Given the description of an element on the screen output the (x, y) to click on. 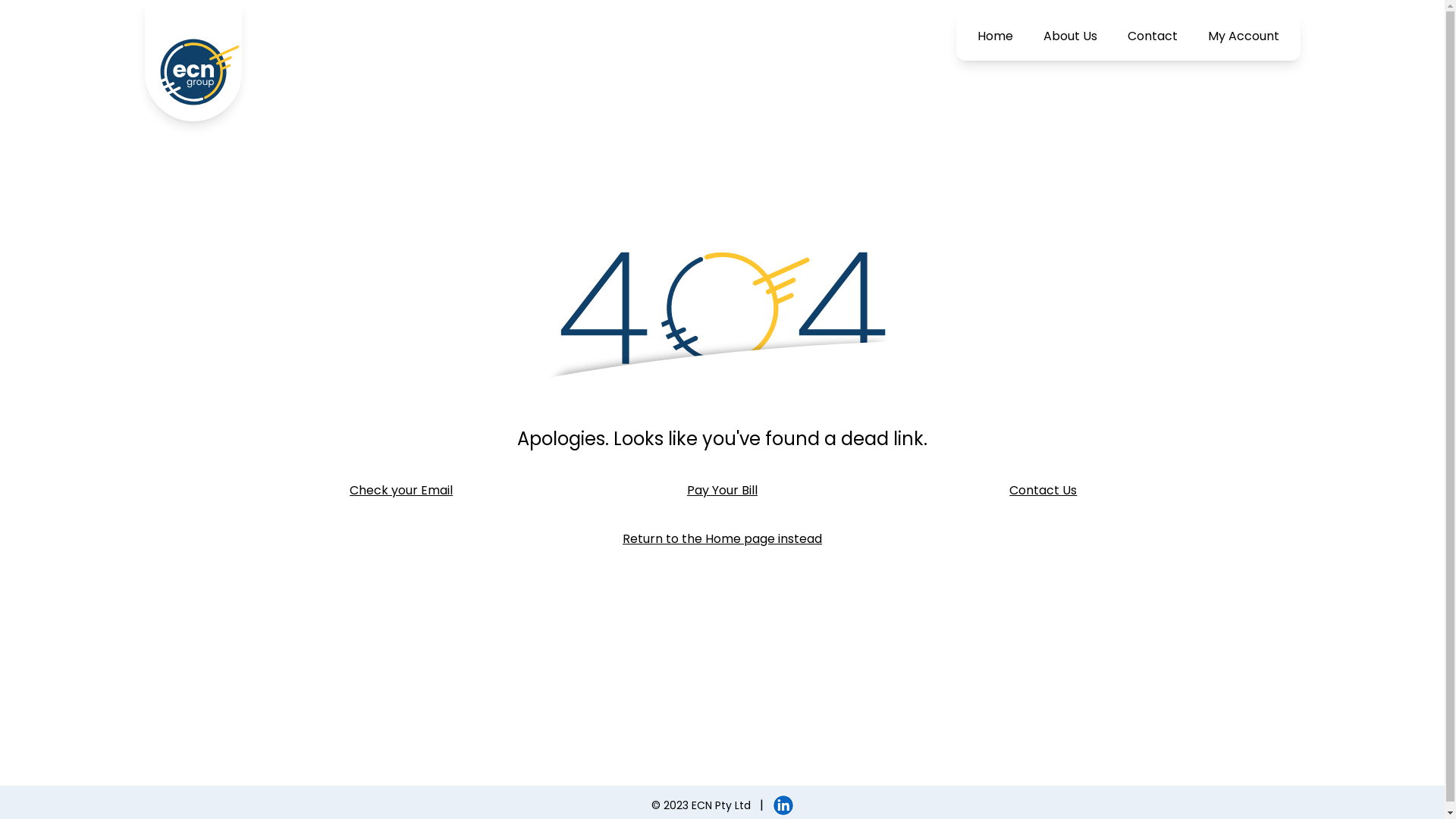
Check your Email Element type: text (401, 490)
Return to the Home page instead Element type: text (722, 539)
Pay Your Bill Element type: text (722, 490)
About Us Element type: text (1070, 36)
Home Element type: text (994, 36)
Contact Element type: text (1151, 36)
Contact Us Element type: text (1042, 490)
